Given the description of an element on the screen output the (x, y) to click on. 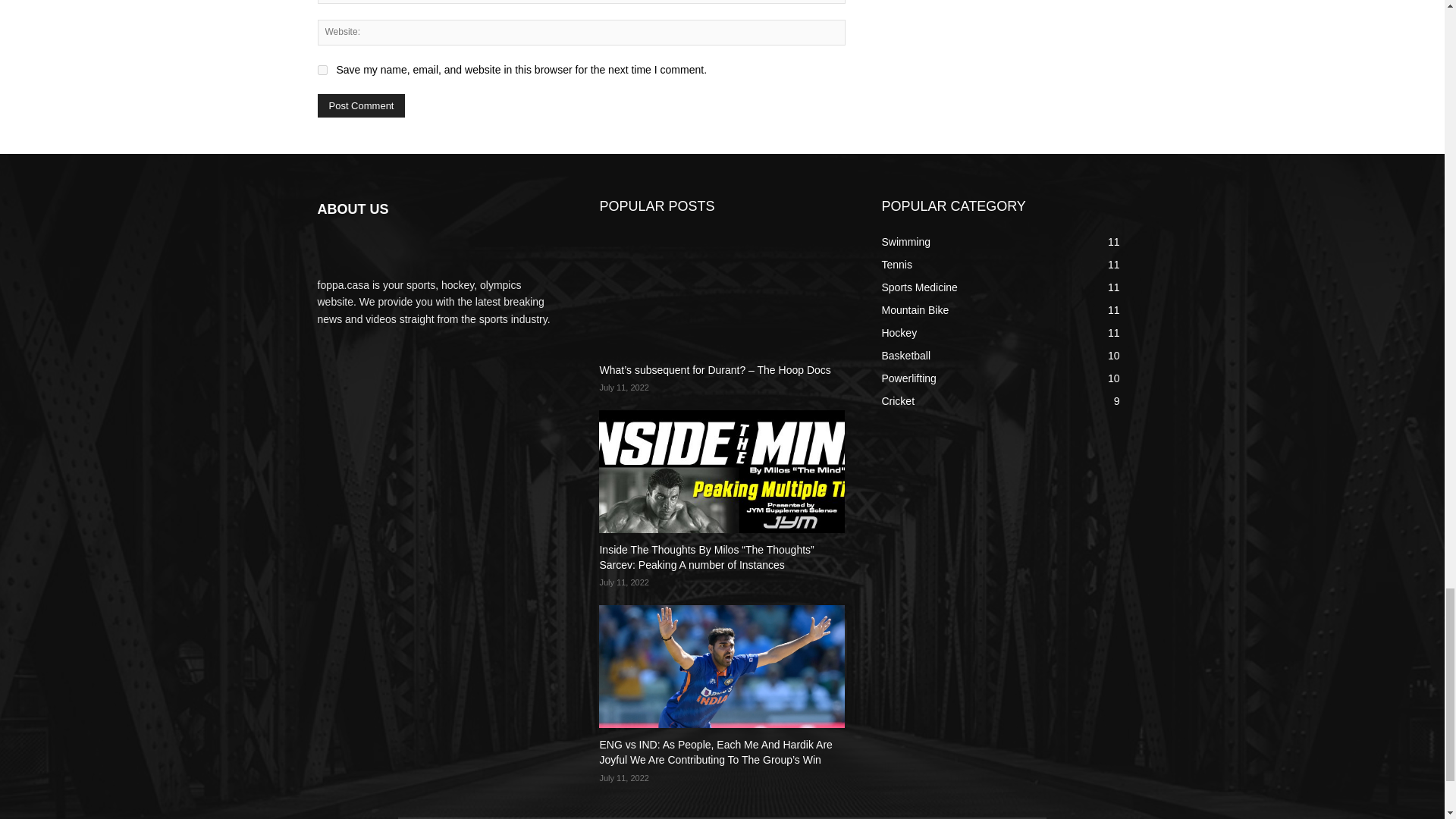
yes (321, 70)
Post Comment (360, 105)
